Given the description of an element on the screen output the (x, y) to click on. 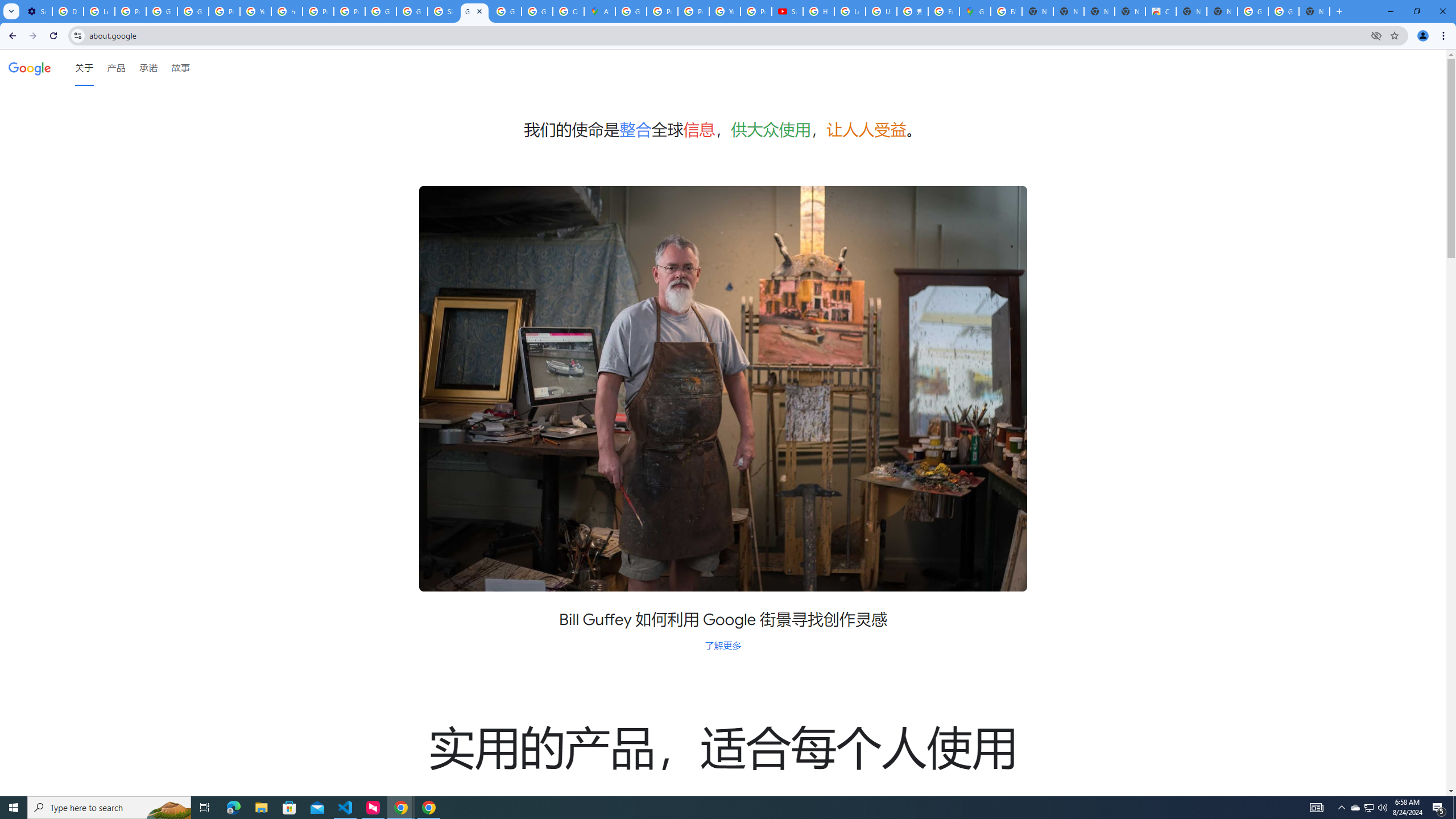
Google Maps (974, 11)
Sign in - Google Accounts (443, 11)
How Chrome protects your passwords - Google Chrome Help (818, 11)
Google Account Help (161, 11)
Subscriptions - YouTube (787, 11)
